Given the description of an element on the screen output the (x, y) to click on. 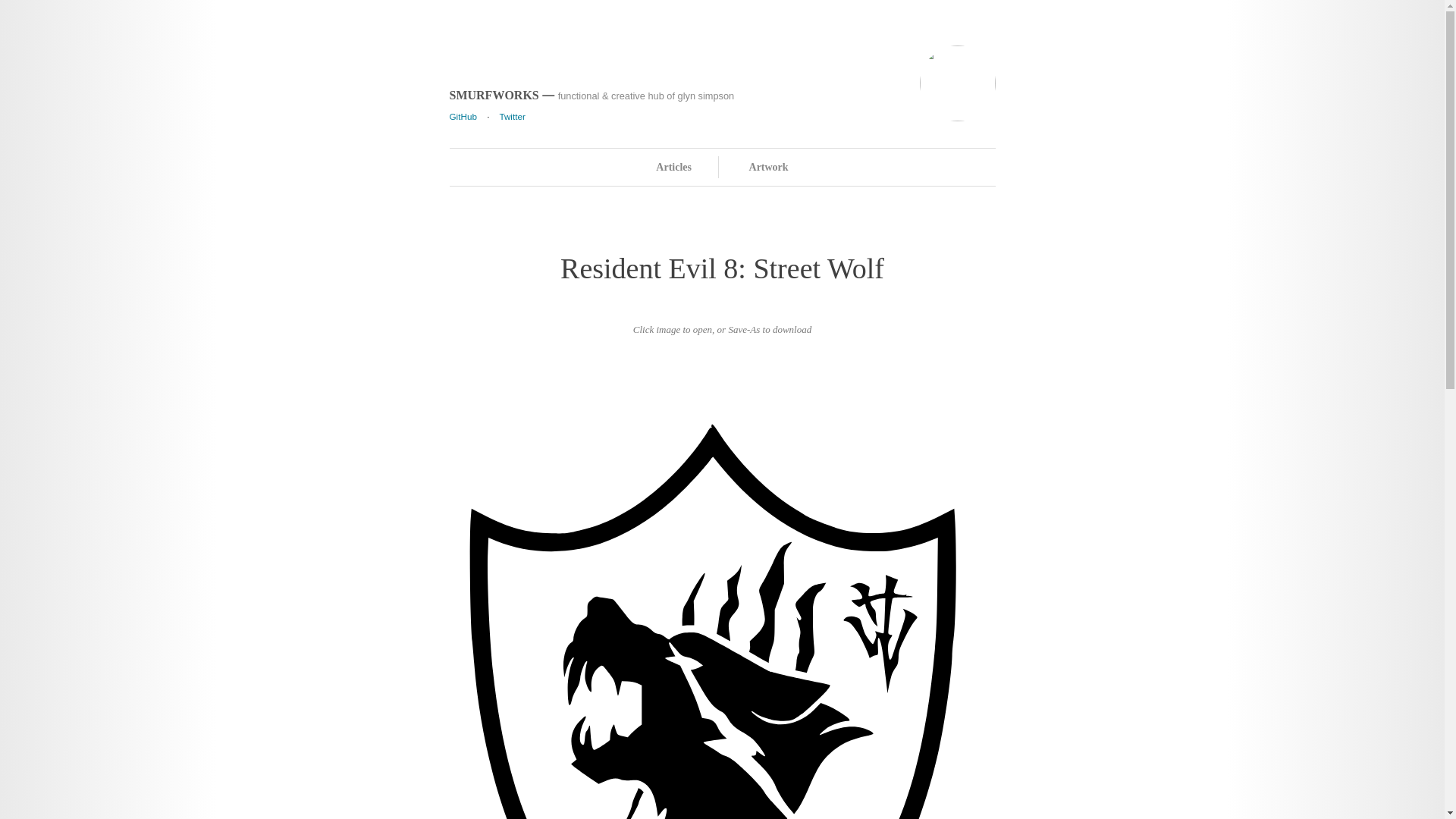
GitHub (462, 116)
Artwork (769, 166)
Resident Evil 8: Street Wolf (721, 268)
Resident Evil 8: Street Wolf (721, 268)
Twitter (511, 116)
SMURFWORKS (493, 94)
SmurfWorks (493, 94)
Articles (673, 166)
